Given the description of an element on the screen output the (x, y) to click on. 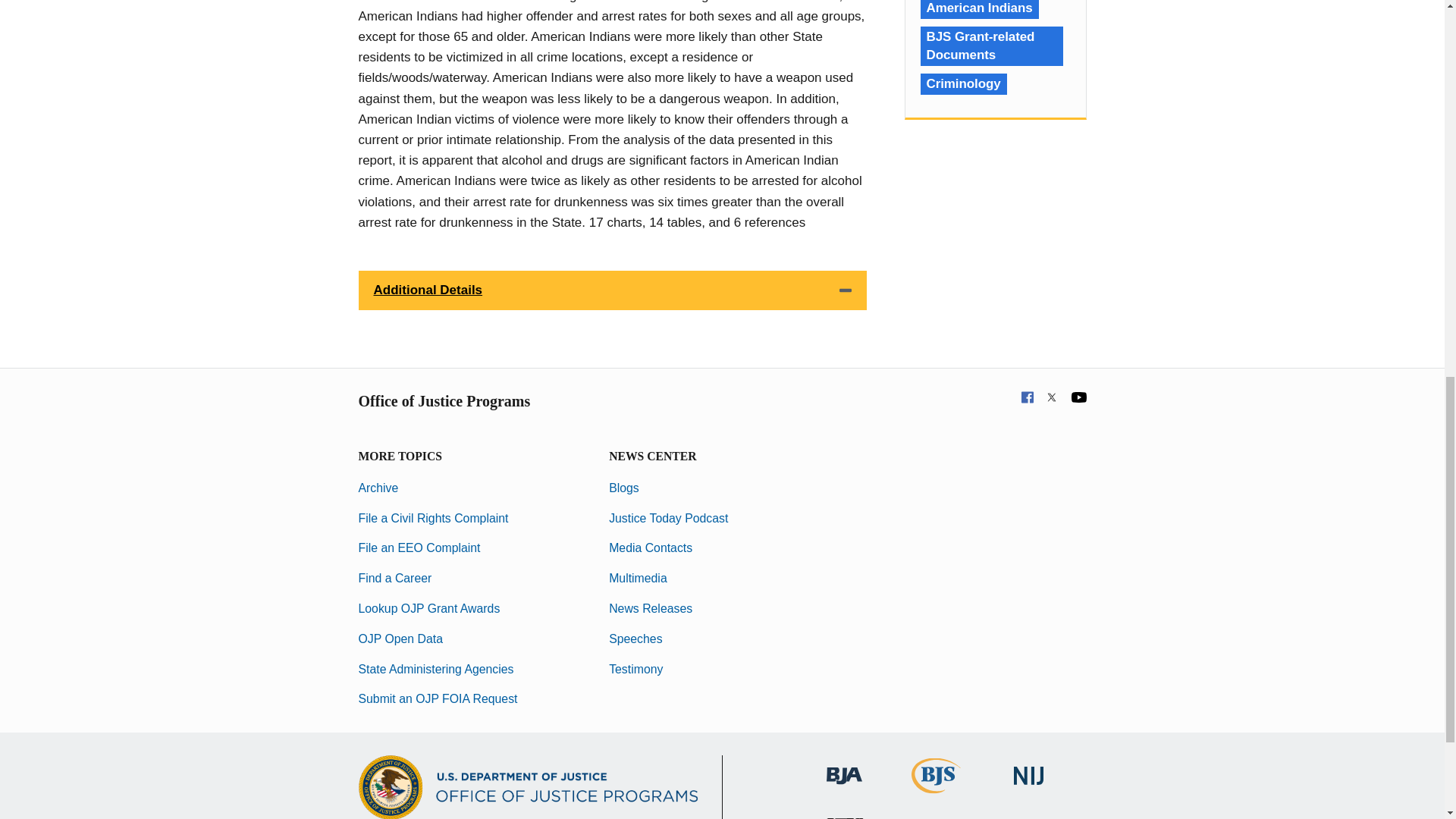
American Indians (979, 9)
File a Civil Rights Complaint (433, 517)
File an EEO Complaint (419, 547)
Criminology (963, 84)
Archive (377, 487)
Additional Details (612, 290)
Find a Career (394, 577)
BJS Grant-related Documents (991, 46)
